Given the description of an element on the screen output the (x, y) to click on. 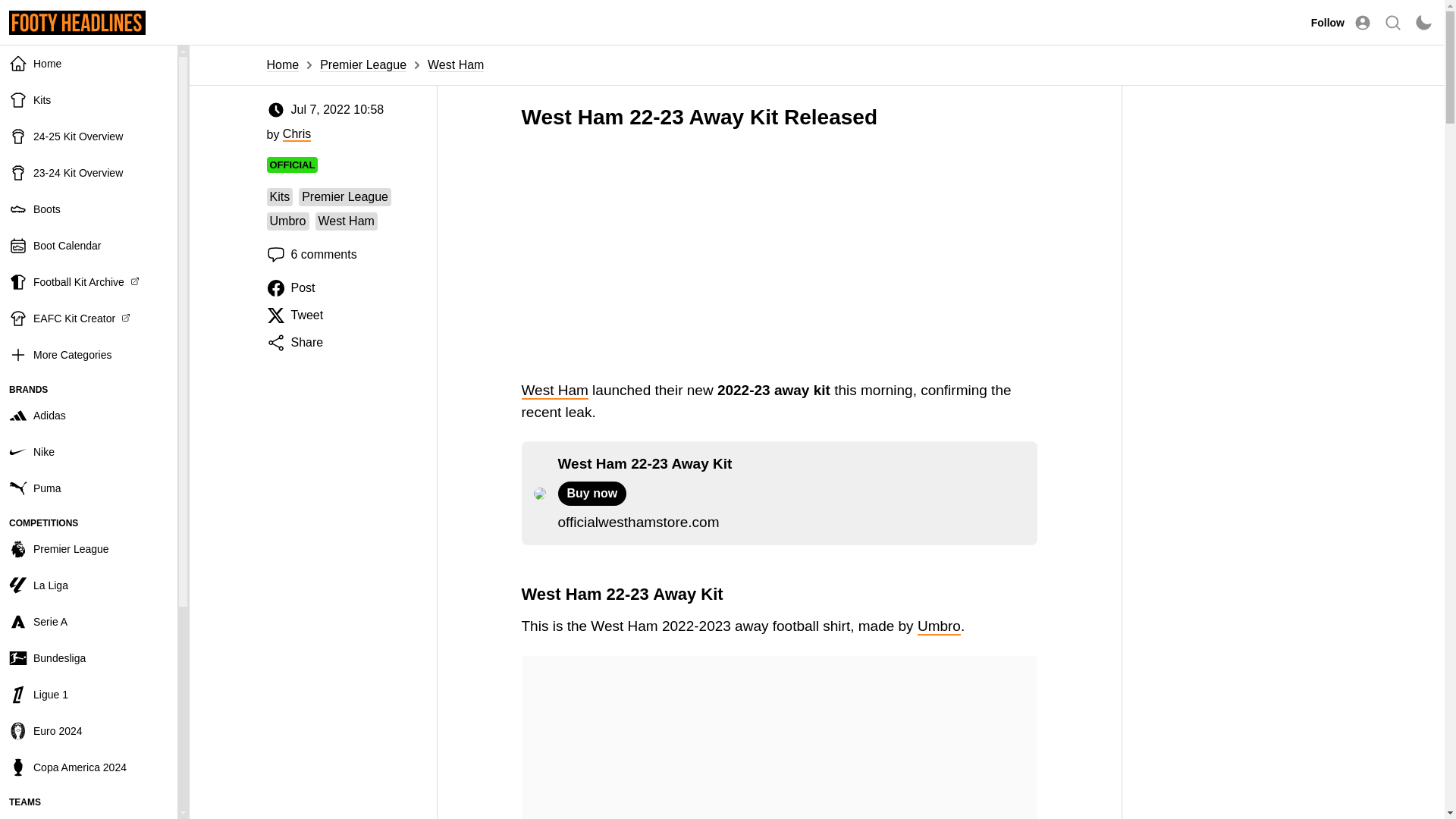
Nike (88, 452)
Bundesliga (88, 657)
Boots (88, 208)
Adidas (88, 415)
24-25 Kit Overview (88, 135)
Arsenal (88, 814)
Kits (88, 99)
Home (88, 63)
Football Kit Archive (88, 281)
23-24 Kit Overview (88, 172)
